Given the description of an element on the screen output the (x, y) to click on. 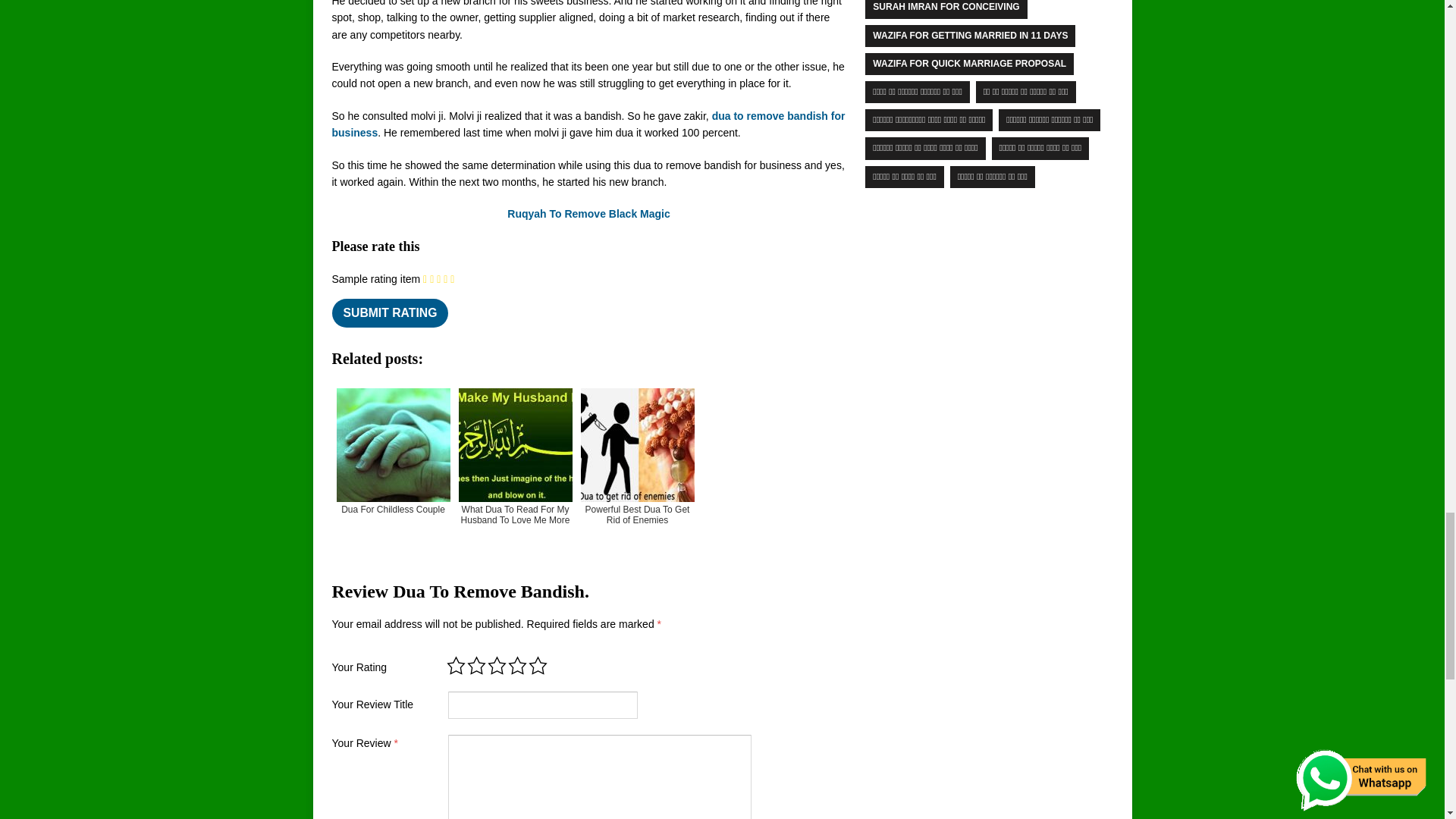
Submit Rating (389, 312)
Submit Rating (389, 312)
Ruqyah To Remove Black Magic (587, 214)
dua to remove bandish for business (588, 123)
